Given the description of an element on the screen output the (x, y) to click on. 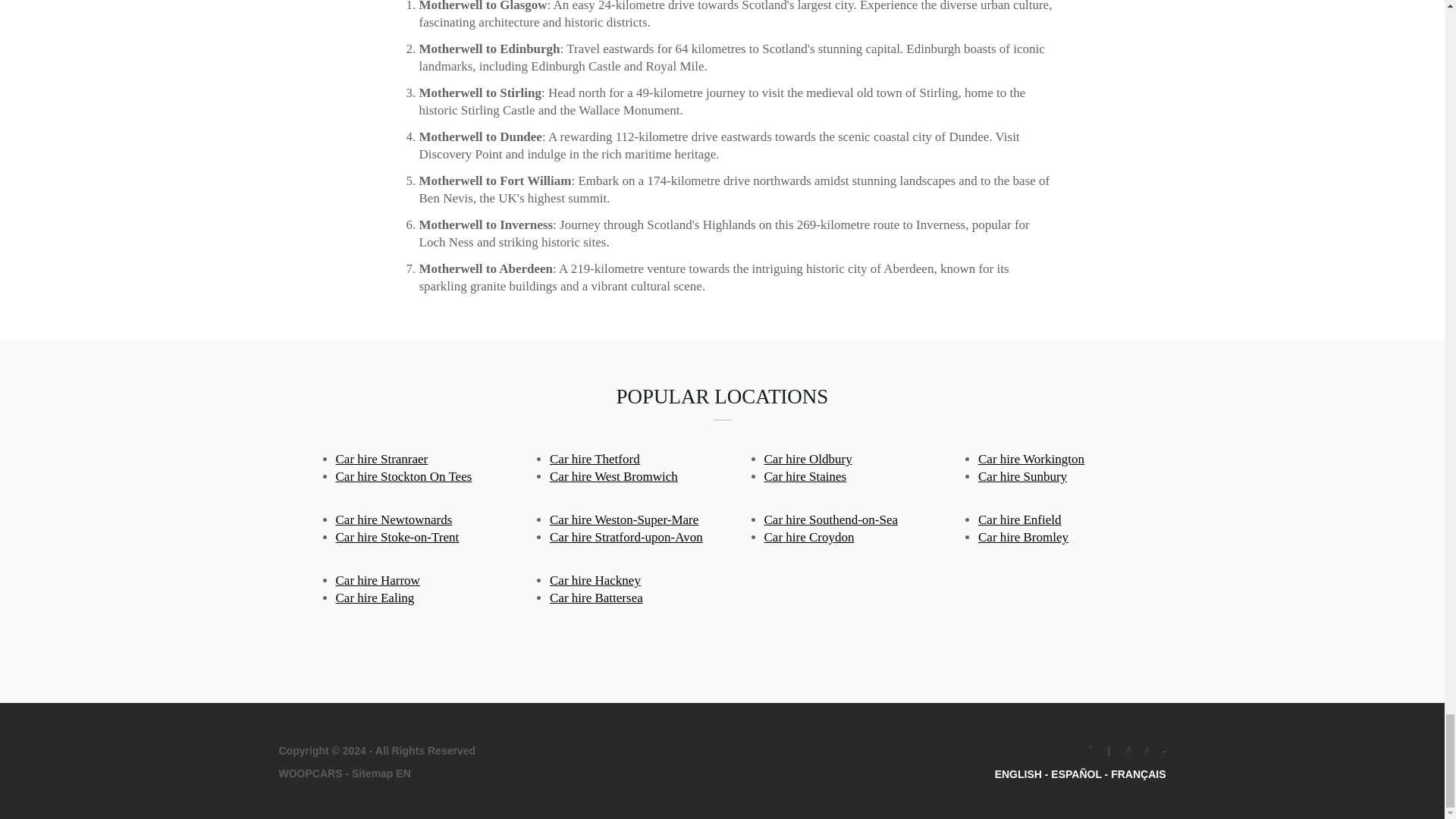
Sitemap EN (379, 773)
Car hire Hackney (595, 580)
Car hire Thetford (595, 459)
Car hire Stratford-upon-Avon (626, 536)
Car hire Weston-Super-Mare (624, 519)
Car hire Oldbury (807, 459)
Car hire Bromley (1023, 536)
Car hire Croydon (809, 536)
Car hire Newtownards (392, 519)
Car hire Enfield (1019, 519)
Car hire Southend-on-Sea (831, 519)
ENGLISH - (1022, 774)
Car hire Sunbury (1022, 476)
Car hire Workington (1031, 459)
Car hire Battersea (596, 597)
